Given the description of an element on the screen output the (x, y) to click on. 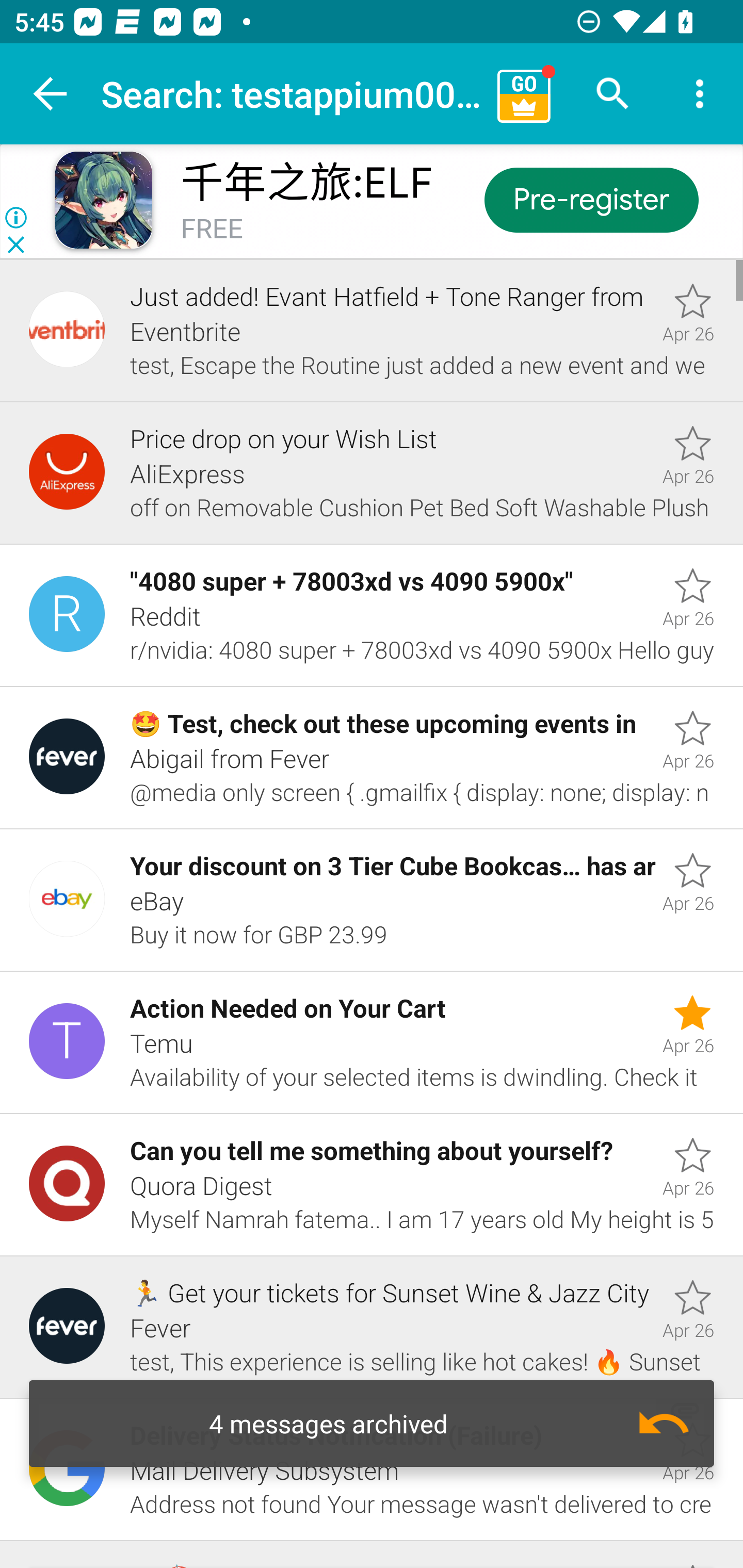
Navigate up (50, 93)
Search (612, 93)
More options (699, 93)
千年之旅:ELF (306, 183)
Pre-register (590, 199)
FREE (211, 230)
Undo 4 messages archived (371, 1423)
